Given the description of an element on the screen output the (x, y) to click on. 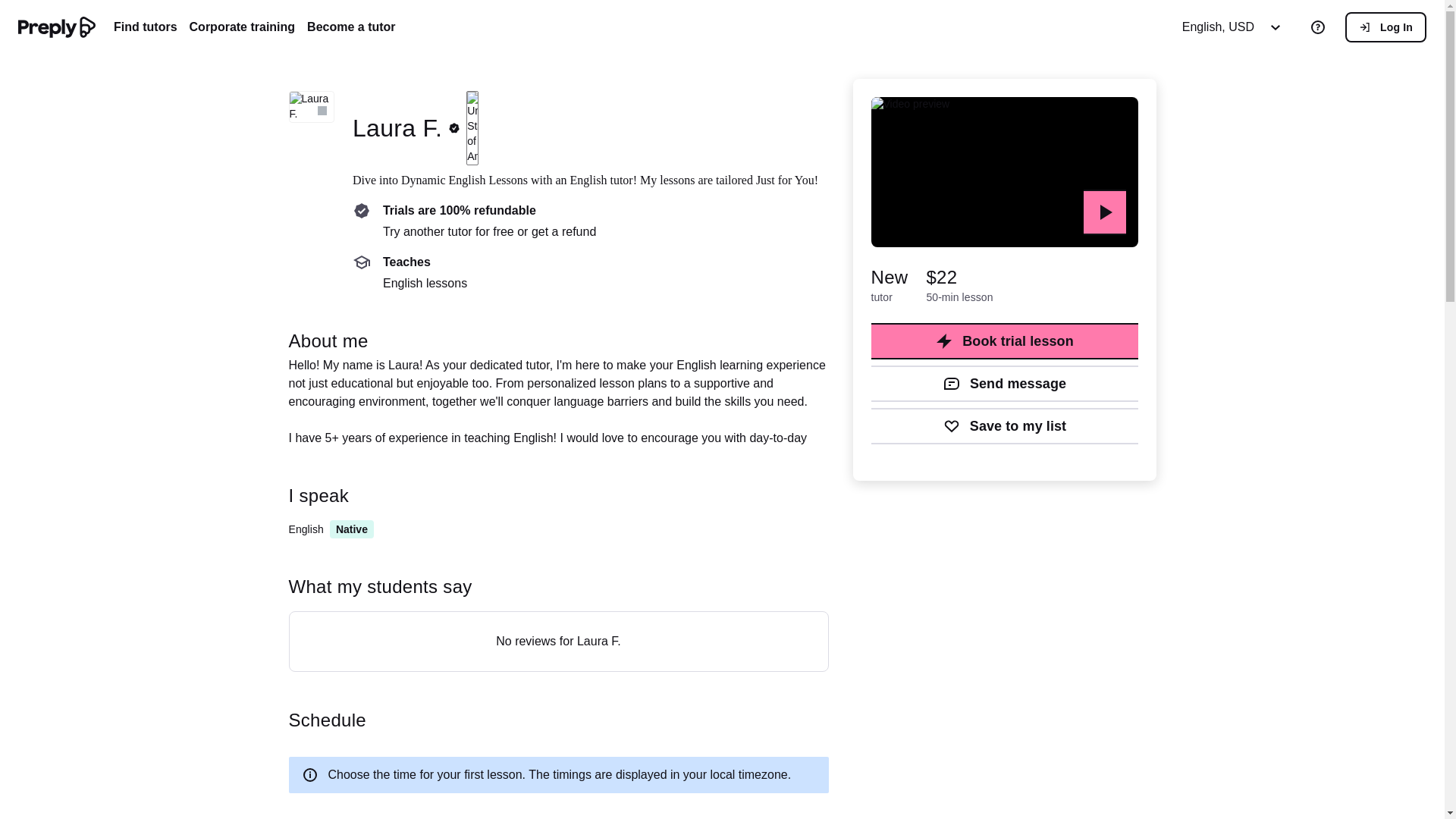
Log In (1385, 27)
Find tutors (145, 27)
Become a tutor (350, 27)
Corporate training (242, 27)
English, USD (1236, 27)
